Given the description of an element on the screen output the (x, y) to click on. 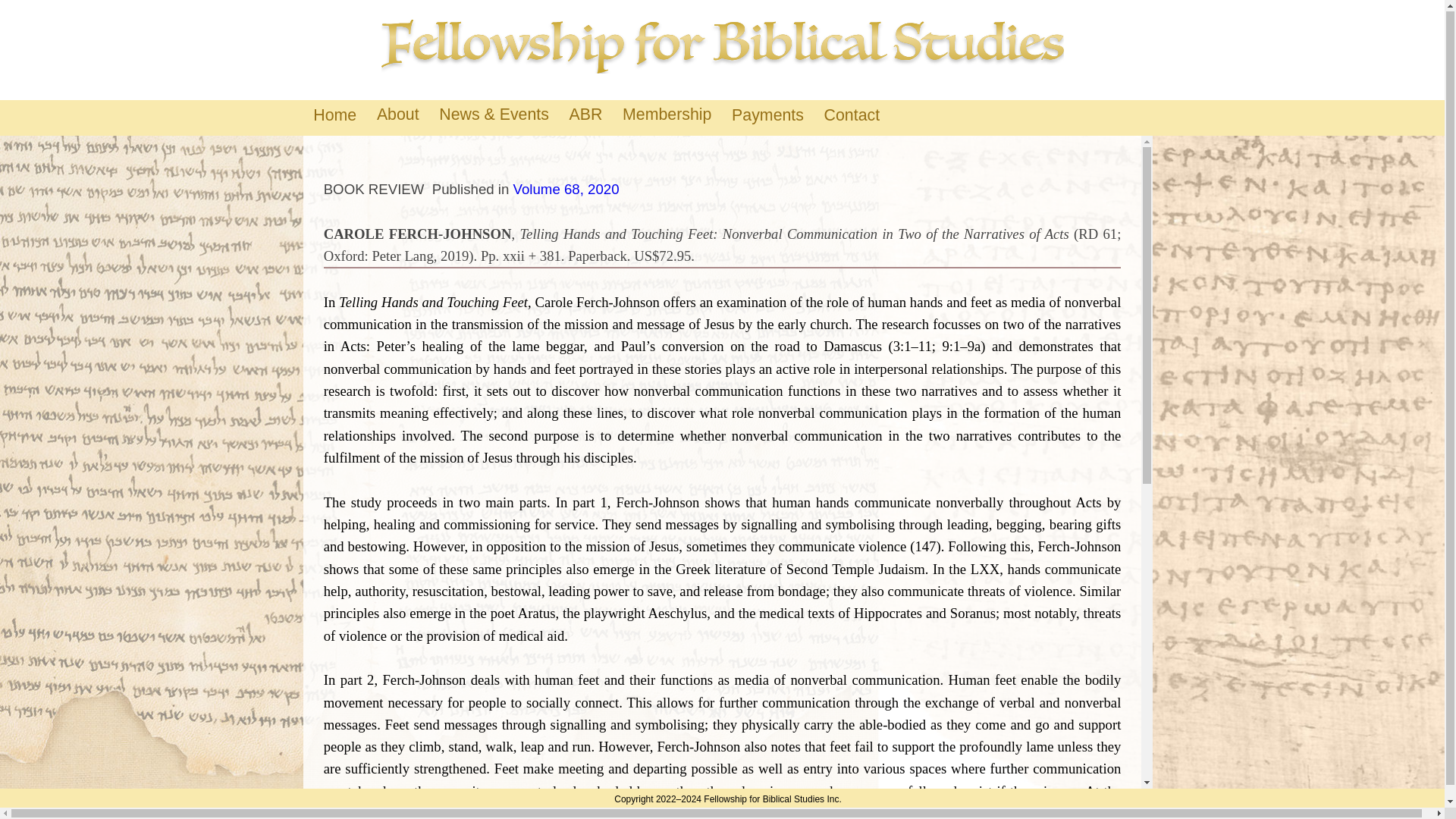
Home (334, 116)
Payments (767, 116)
ABR (585, 113)
Contact (851, 116)
Membership (667, 113)
About (397, 113)
Volume 68, 2020 (566, 188)
